Given the description of an element on the screen output the (x, y) to click on. 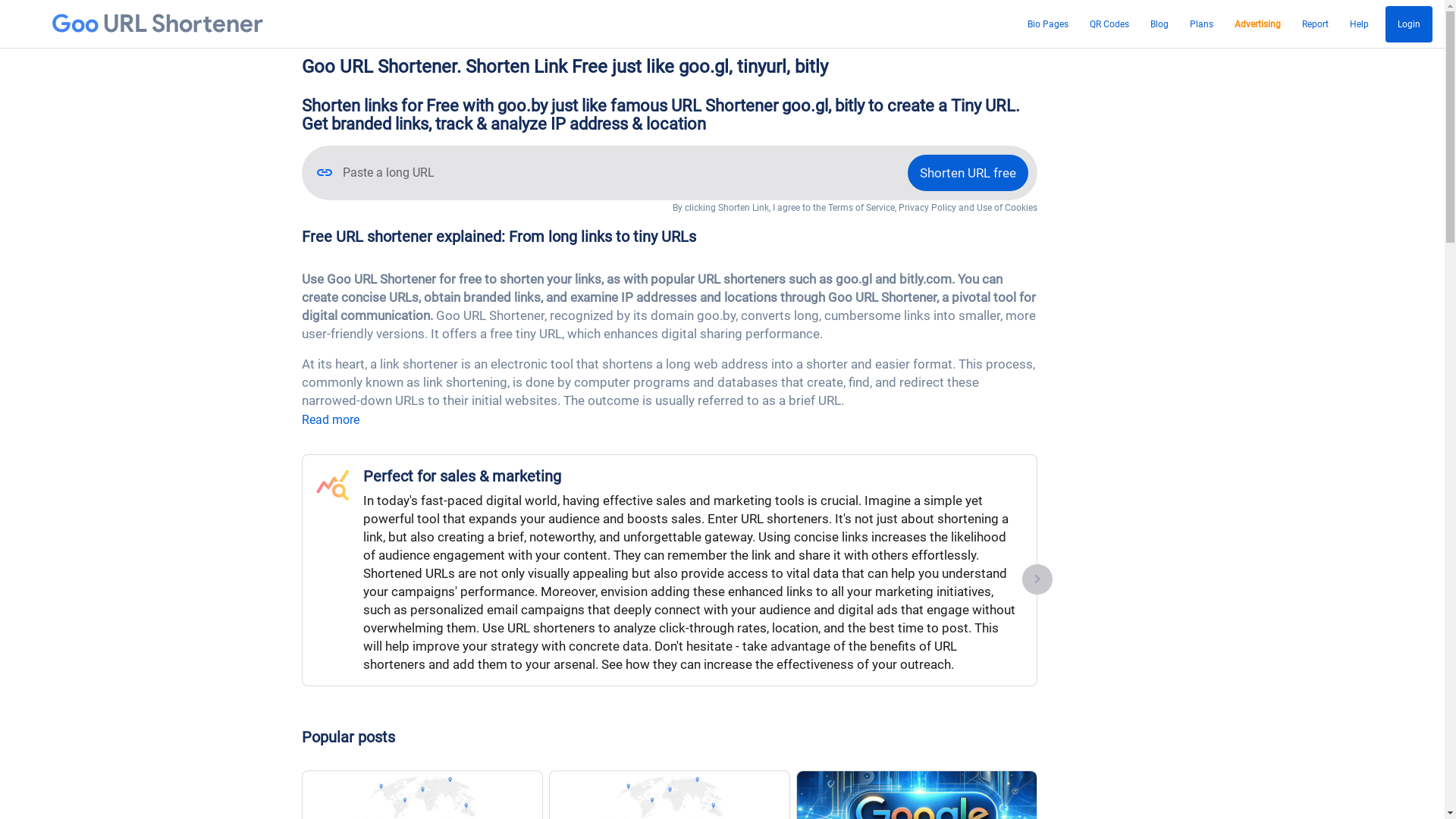
Login Element type: text (1408, 24)
Shorten URL free Element type: text (966, 172)
Report Element type: text (1315, 24)
QR Codes Element type: text (1109, 24)
Plans Element type: text (1201, 24)
Blog Element type: text (1159, 24)
Bio Pages Element type: text (1047, 24)
Advertising Element type: text (1257, 24)
Read more Element type: text (330, 419)
Help Element type: text (1359, 24)
